Given the description of an element on the screen output the (x, y) to click on. 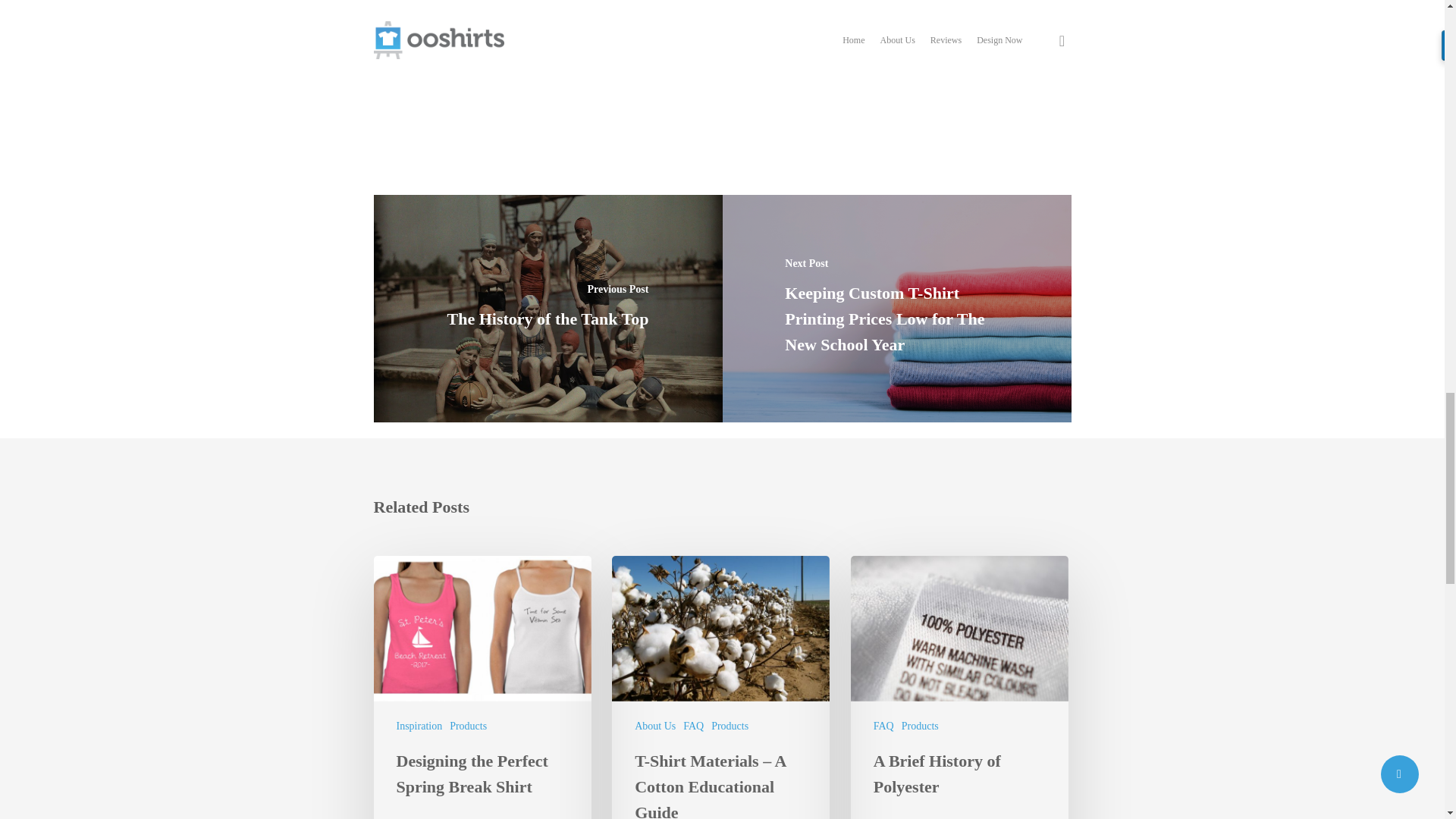
Inspiration (419, 726)
Products (729, 726)
About Us (654, 726)
Get your organic on!  (551, 30)
Products (920, 726)
Products (467, 726)
FAQ (883, 726)
FAQ (692, 726)
